Given the description of an element on the screen output the (x, y) to click on. 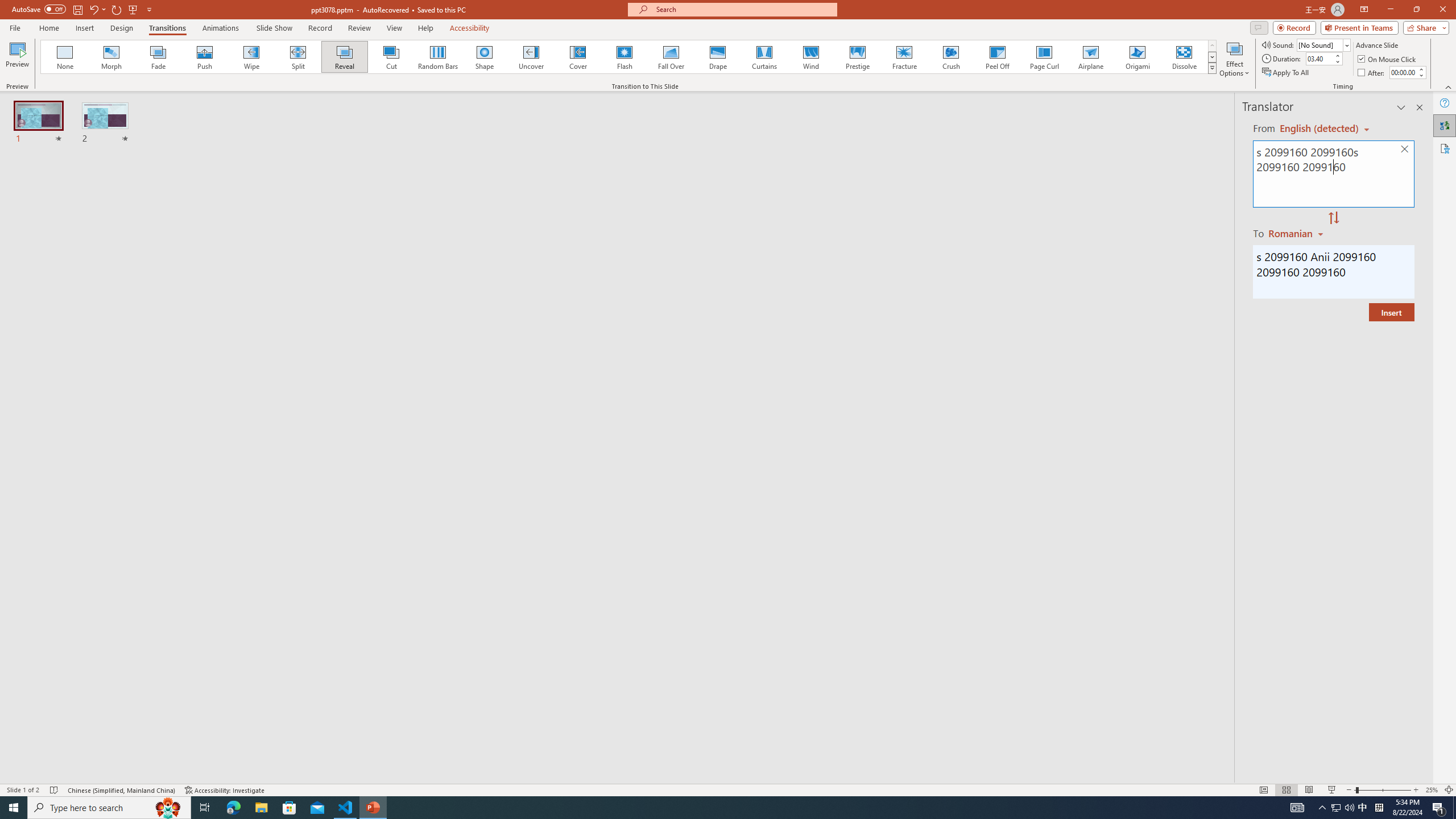
Prestige (857, 56)
Morph (111, 56)
Split (298, 56)
Fracture (903, 56)
AutomationID: AnimationTransitionGallery (628, 56)
Duration (1319, 58)
On Mouse Click (1387, 58)
